Given the description of an element on the screen output the (x, y) to click on. 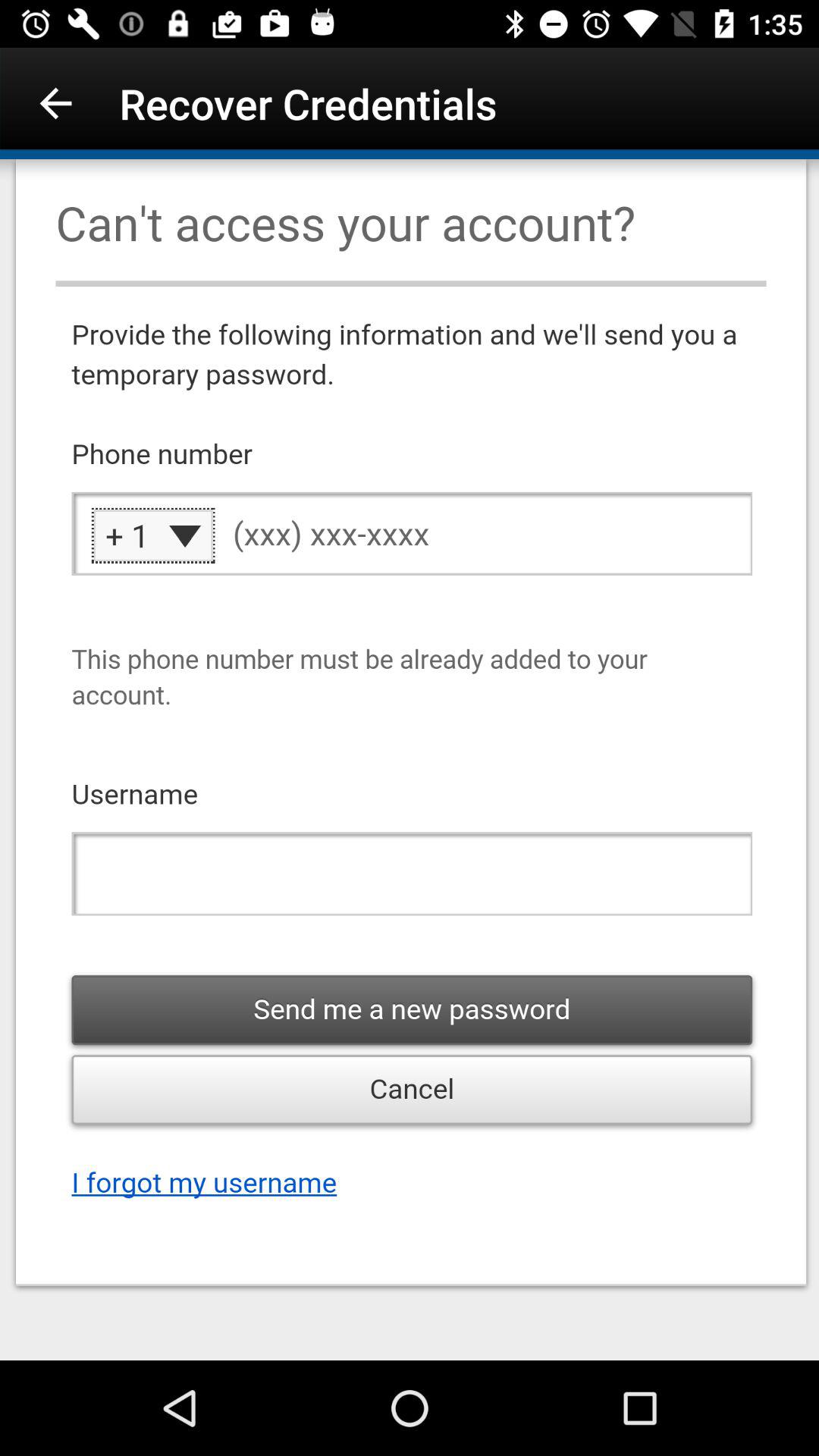
password reset (409, 759)
